Given the description of an element on the screen output the (x, y) to click on. 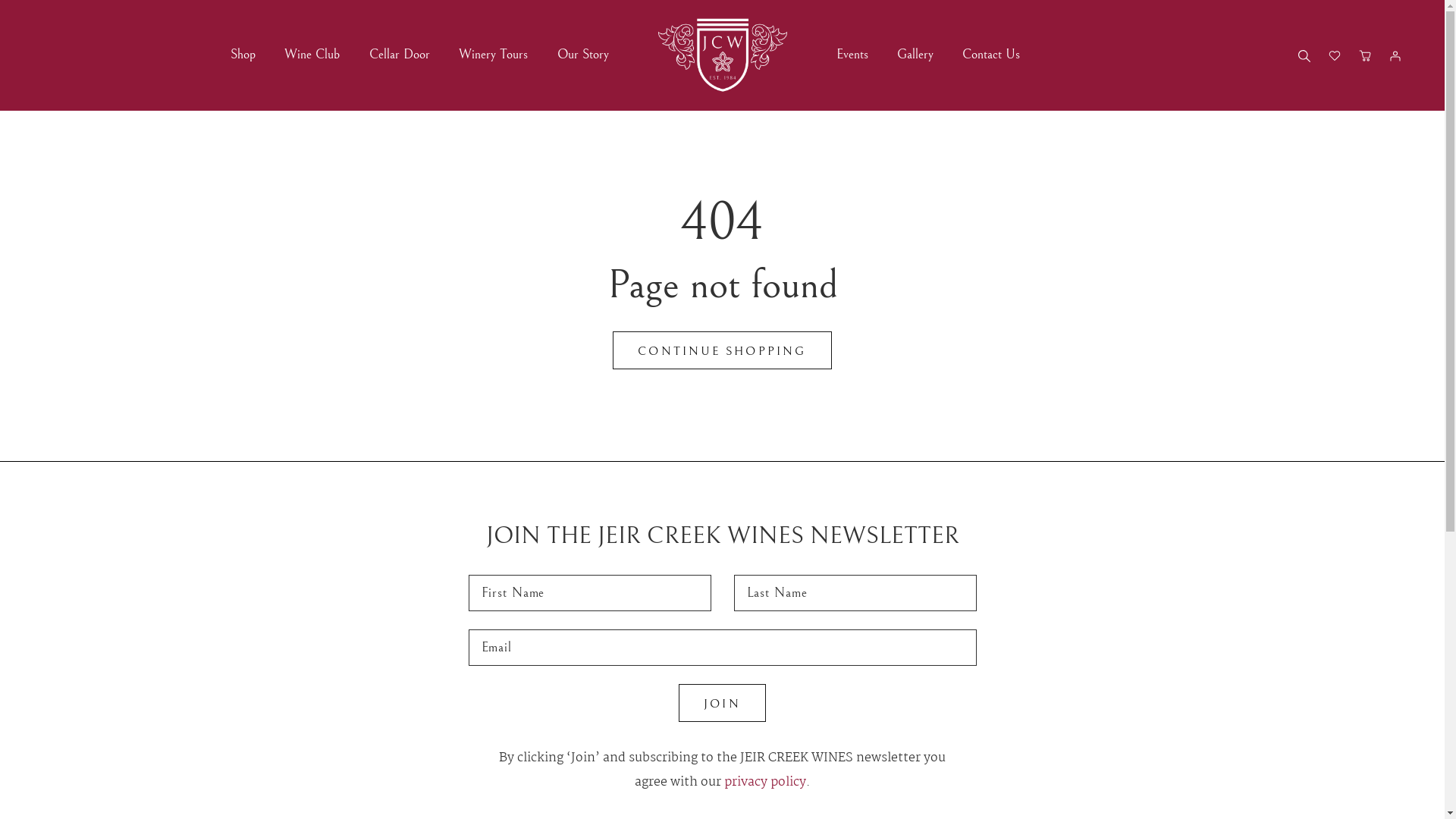
Cellar Door Element type: text (399, 55)
Wine Club Element type: text (311, 55)
JOIN Element type: text (721, 702)
Events Element type: text (851, 55)
privacy policy Element type: text (765, 781)
Shop Element type: text (242, 55)
CONTINUE SHOPPING Element type: text (721, 350)
Contact Us Element type: text (990, 55)
Our Story Element type: text (582, 55)
Gallery Element type: text (915, 55)
Winery Tours Element type: text (492, 55)
